Given the description of an element on the screen output the (x, y) to click on. 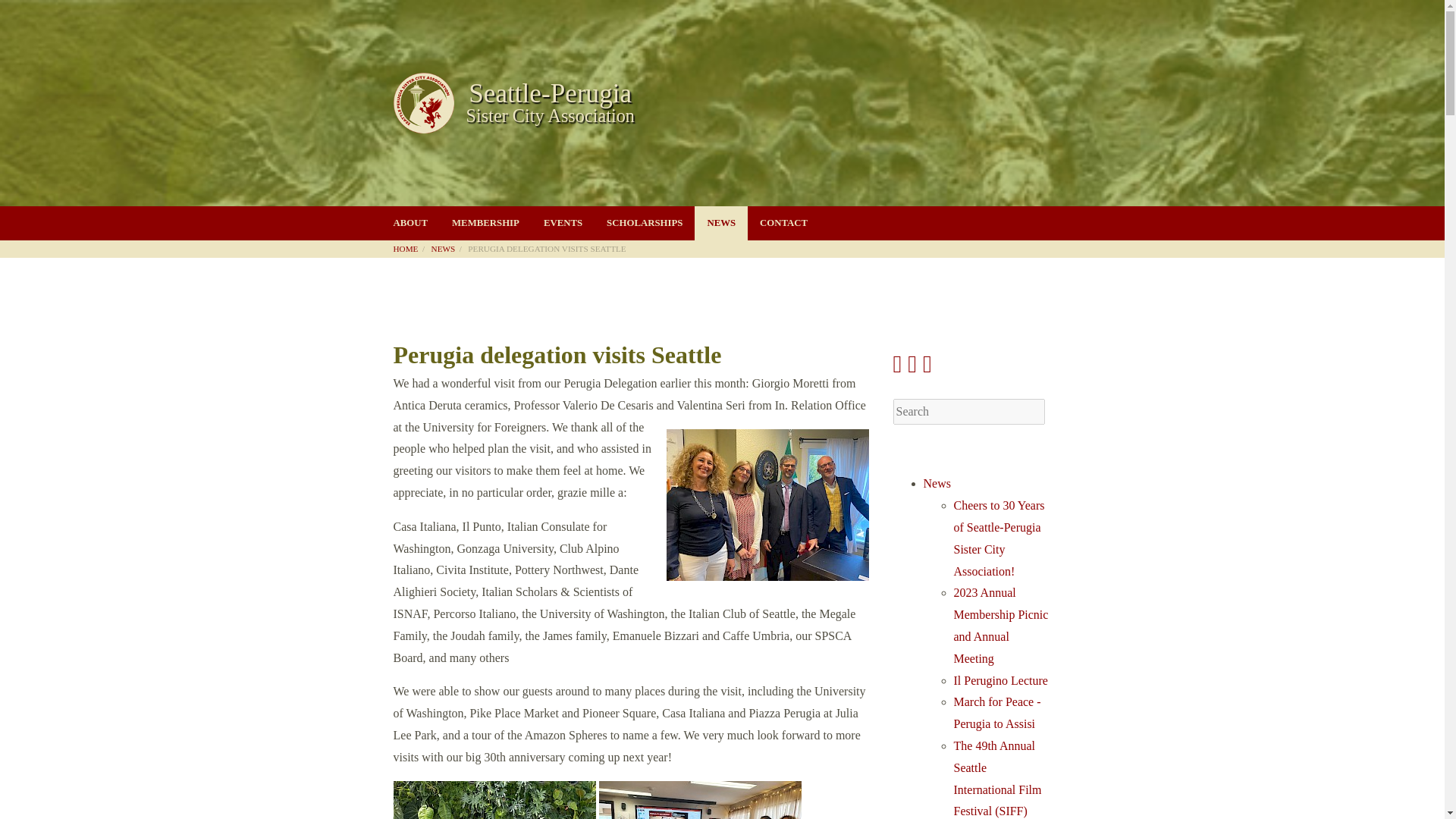
NEWS (447, 248)
EVENTS (562, 223)
NEWS (721, 223)
CONTACT (783, 223)
2023 Annual Membership Picnic and Annual Meeting (1000, 625)
HOME (410, 248)
News (936, 482)
SCHOLARSHIPS (722, 102)
